Given the description of an element on the screen output the (x, y) to click on. 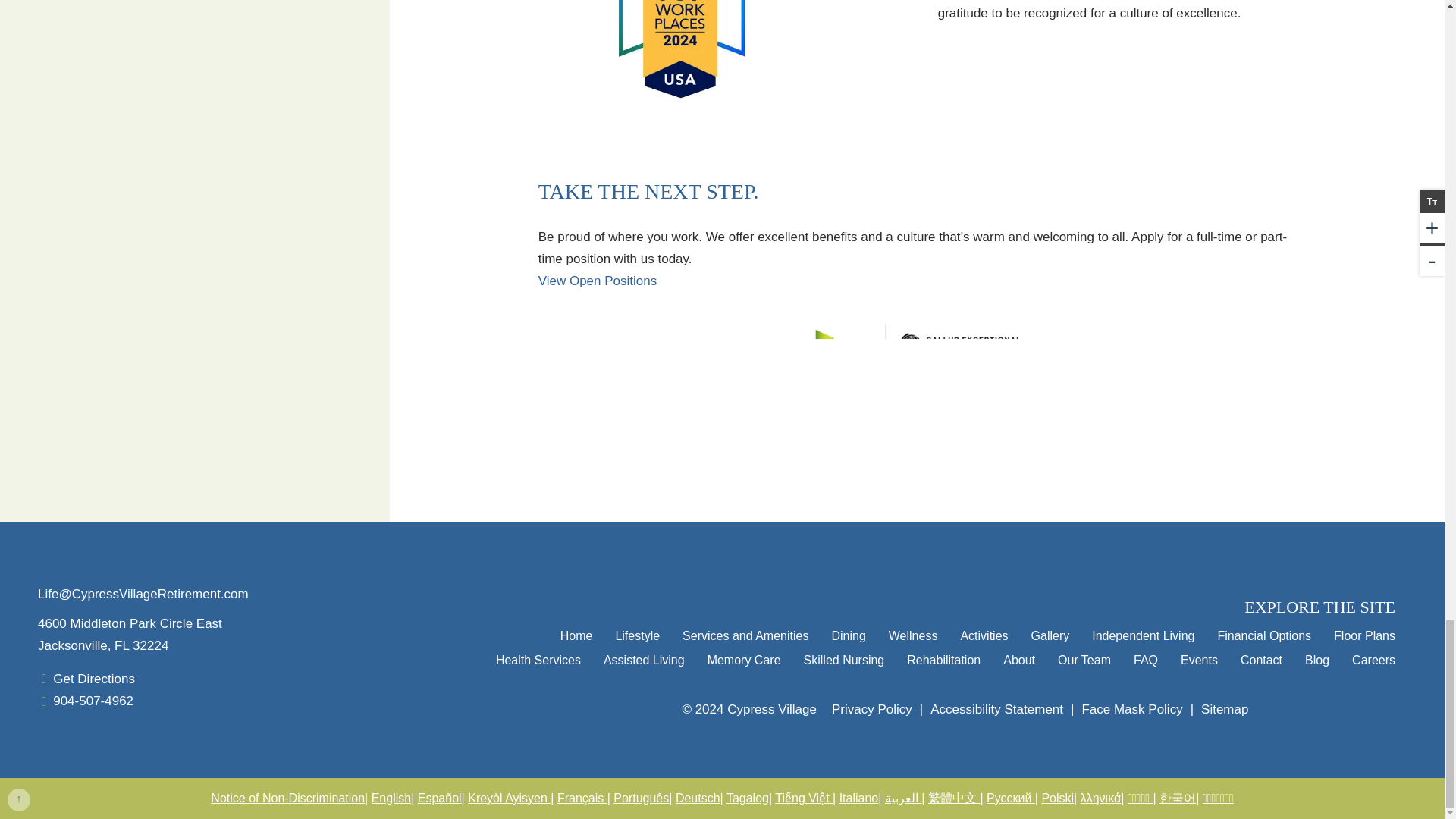
hpeak-cyvill-logo-white (216, 556)
Facebook (73, 743)
Phone (92, 701)
Lifecare services (1325, 710)
Link to Google Map (216, 635)
Link to Google Map (93, 680)
View Open Positions (598, 280)
